Given the description of an element on the screen output the (x, y) to click on. 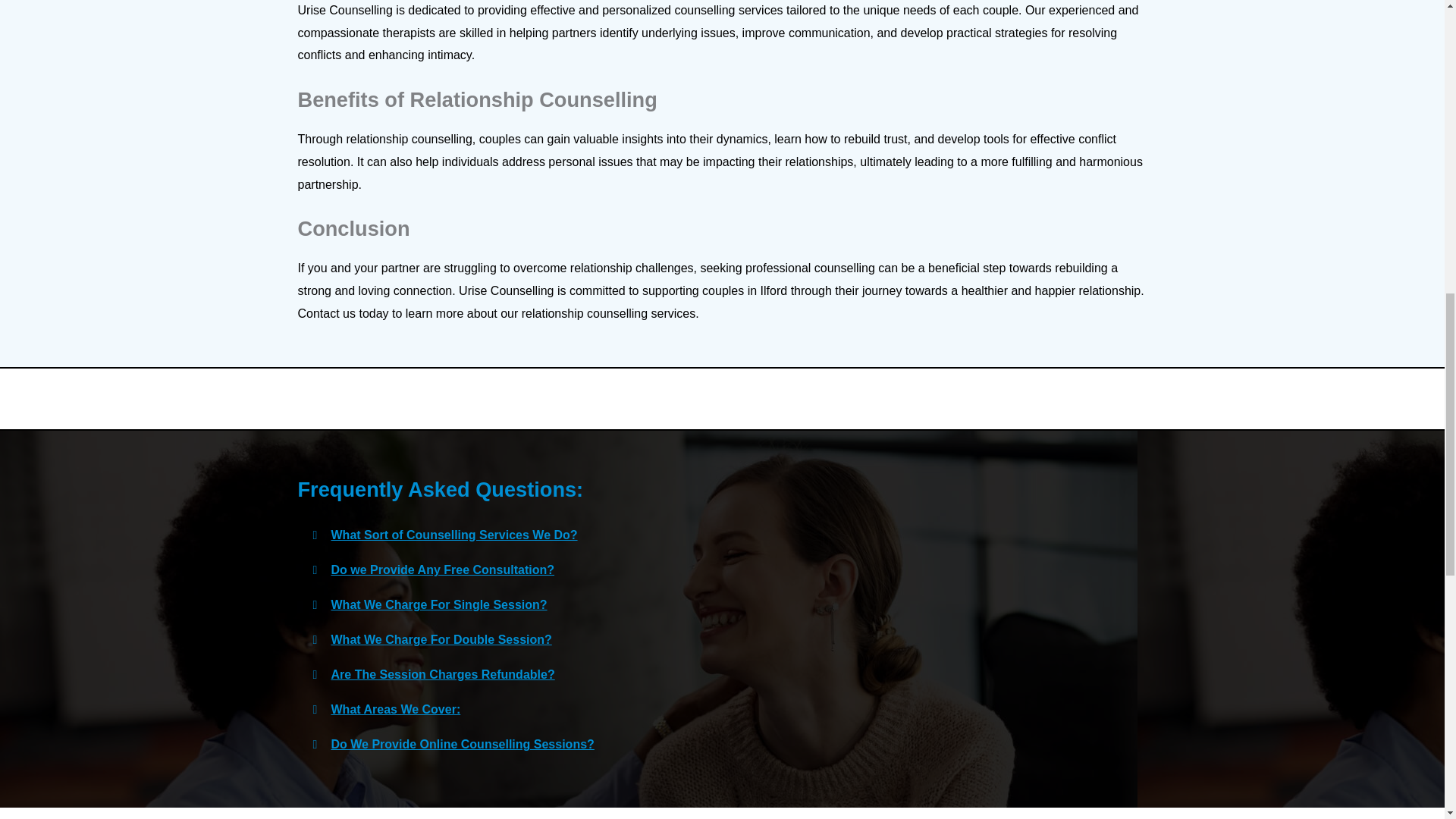
What Sort of Counselling Services We Do? (453, 534)
Do We Provide Online Counselling Sessions? (462, 744)
Are The Session Charges Refundable? (442, 674)
What We Charge For Single Session? (438, 604)
What We Charge For Double Session? (440, 639)
What Areas We Cover: (395, 708)
Do we Provide Any Free Consultation? (442, 569)
